Given the description of an element on the screen output the (x, y) to click on. 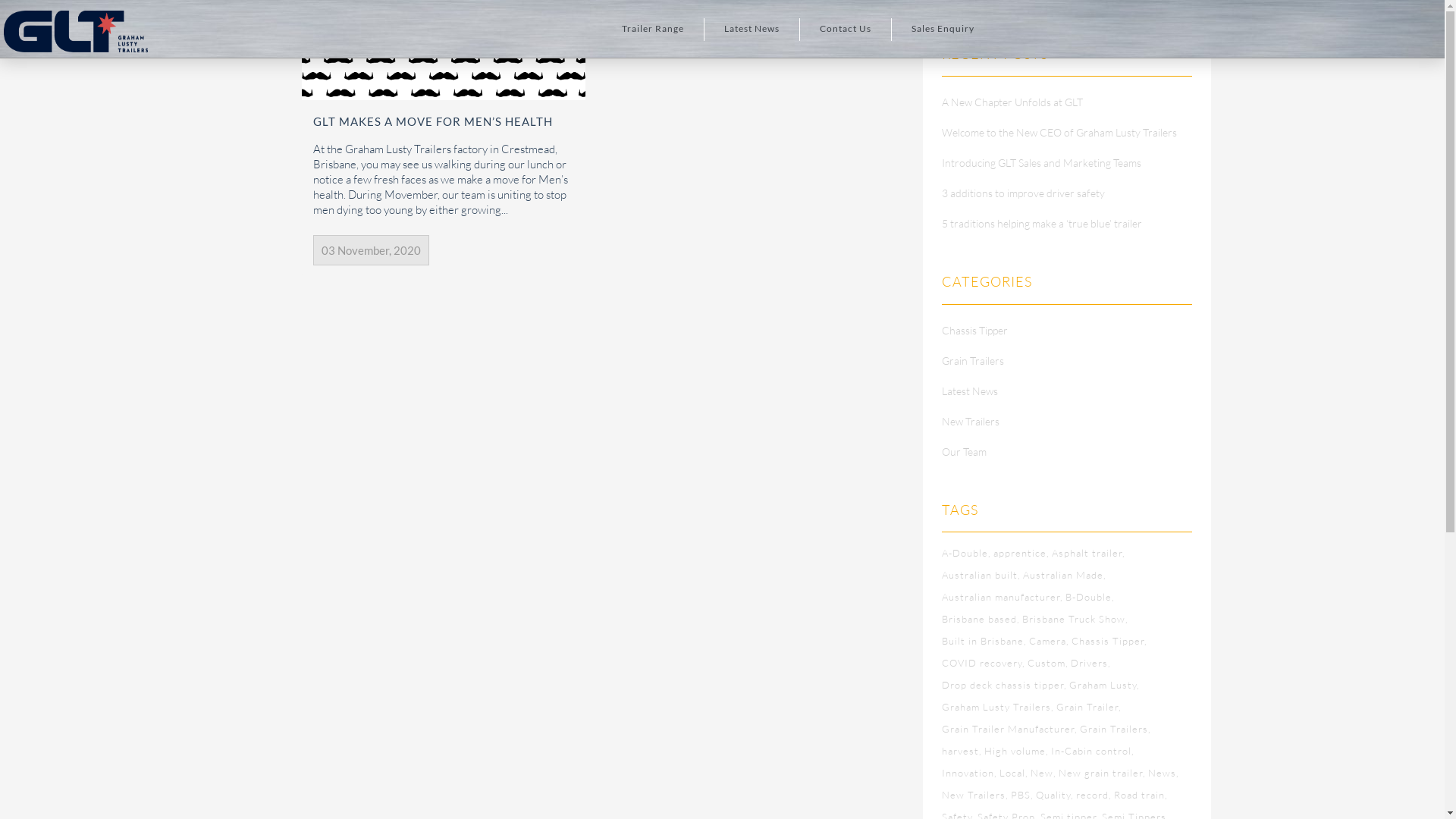
High volume Element type: text (1016, 750)
B-Double Element type: text (1089, 596)
Welcome to the New CEO of Graham Lusty Trailers Element type: text (1058, 131)
Grain Trailer Element type: text (1088, 706)
apprentice Element type: text (1021, 552)
Latest News Element type: text (751, 28)
New Trailers Element type: text (970, 420)
COVID recovery Element type: text (983, 662)
Road train Element type: text (1140, 794)
Chassis Tipper Element type: text (974, 329)
News Element type: text (1163, 772)
New grain trailer Element type: text (1101, 772)
New Trailers Element type: text (974, 794)
Camera Element type: text (1049, 640)
A-Double Element type: text (966, 552)
Sales Enquiry Element type: text (942, 28)
Drop deck chassis tipper Element type: text (1003, 684)
Trailer Range Element type: text (652, 28)
3 additions to improve driver safety Element type: text (1022, 192)
Innovation Element type: text (969, 772)
Australian built Element type: text (980, 574)
Graham Lusty Trailers Element type: text (997, 706)
Graham Lusty Element type: text (1104, 684)
Asphalt trailer Element type: text (1088, 552)
Built in Brisbane Element type: text (983, 640)
In-Cabin control Element type: text (1092, 750)
Our Team Element type: text (963, 451)
Contact Us Element type: text (845, 28)
Australian Made Element type: text (1064, 574)
Chassis Tipper Element type: text (1109, 640)
harvest Element type: text (961, 750)
Grain Trailer Manufacturer Element type: text (1009, 728)
Local Element type: text (1013, 772)
Custom Element type: text (1047, 662)
New Element type: text (1043, 772)
record Element type: text (1093, 794)
Latest News Element type: text (969, 390)
Australian manufacturer Element type: text (1002, 596)
Introducing GLT Sales and Marketing Teams Element type: text (1041, 162)
Drivers Element type: text (1090, 662)
Grain Trailers Element type: text (972, 360)
Quality Element type: text (1054, 794)
Grain Trailers Element type: text (1115, 728)
Brisbane Truck Show Element type: text (1075, 618)
Brisbane based Element type: text (980, 618)
A New Chapter Unfolds at GLT Element type: text (1011, 101)
PBS Element type: text (1021, 794)
